Given the description of an element on the screen output the (x, y) to click on. 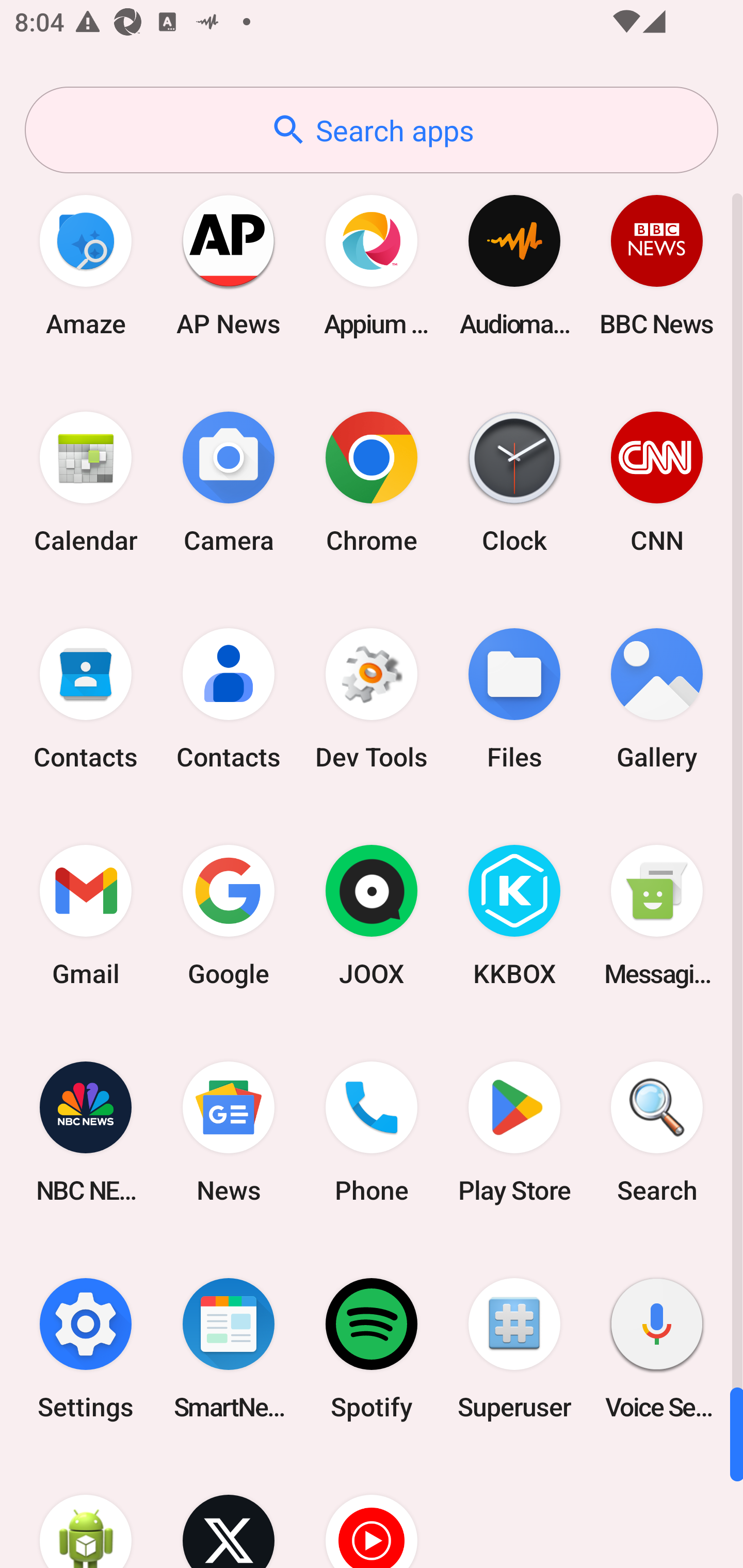
  Search apps (371, 130)
Amaze (85, 264)
AP News (228, 264)
Appium Settings (371, 264)
Audio­mack (514, 264)
BBC News (656, 264)
Calendar (85, 482)
Camera (228, 482)
Chrome (371, 482)
Clock (514, 482)
CNN (656, 482)
Contacts (85, 699)
Contacts (228, 699)
Dev Tools (371, 699)
Files (514, 699)
Gallery (656, 699)
Gmail (85, 915)
Google (228, 915)
JOOX (371, 915)
KKBOX (514, 915)
Messaging (656, 915)
NBC NEWS (85, 1131)
News (228, 1131)
Phone (371, 1131)
Play Store (514, 1131)
Search (656, 1131)
Settings (85, 1348)
SmartNews (228, 1348)
Spotify (371, 1348)
Superuser (514, 1348)
Voice Search (656, 1348)
